Given the description of an element on the screen output the (x, y) to click on. 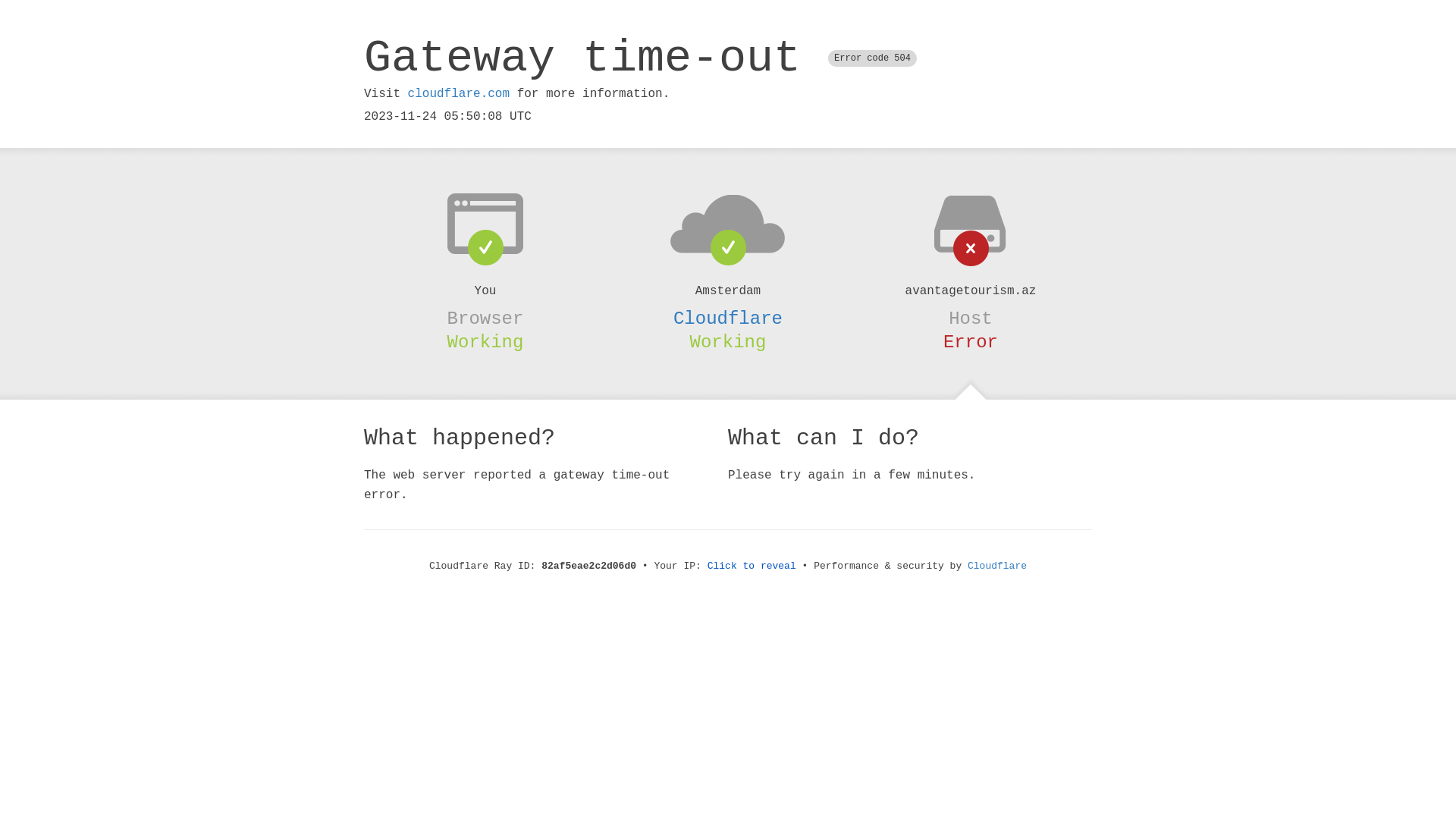
Cloudflare Element type: text (727, 318)
Click to reveal Element type: text (751, 565)
Cloudflare Element type: text (996, 565)
cloudflare.com Element type: text (458, 93)
